Given the description of an element on the screen output the (x, y) to click on. 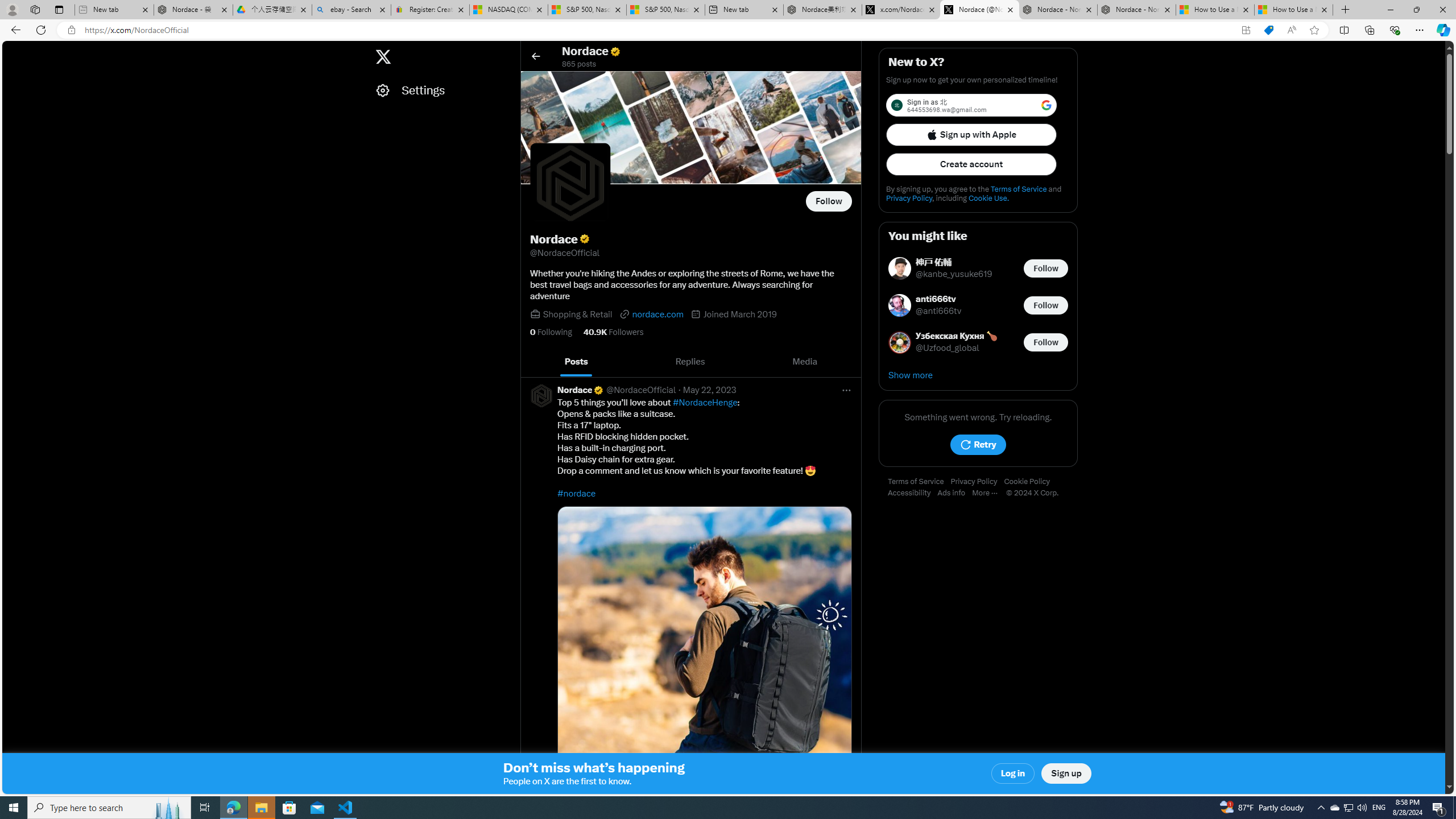
How to Use a Monitor With Your Closed Laptop (1293, 9)
nordace.com (651, 313)
Terms of Service (919, 481)
Sign up (1066, 773)
Skip to home timeline (12, 50)
Provides details about verified accounts. (583, 238)
Follow @NordaceOfficial (828, 201)
Follow @kanbe_yusuke619 (1045, 267)
ebay - Search (351, 9)
Replies (689, 361)
